Given the description of an element on the screen output the (x, y) to click on. 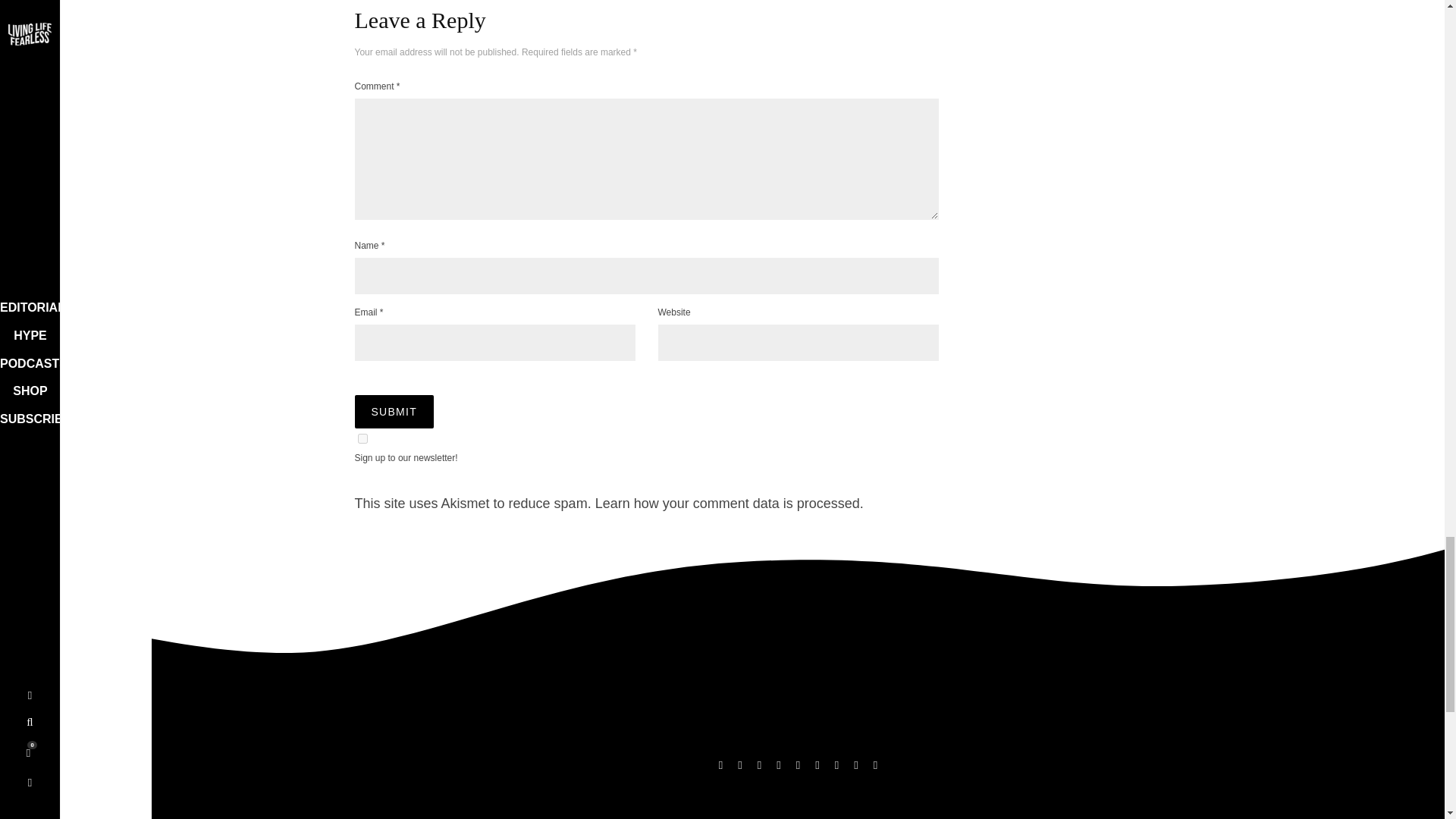
Submit (394, 411)
1 (363, 438)
